Given the description of an element on the screen output the (x, y) to click on. 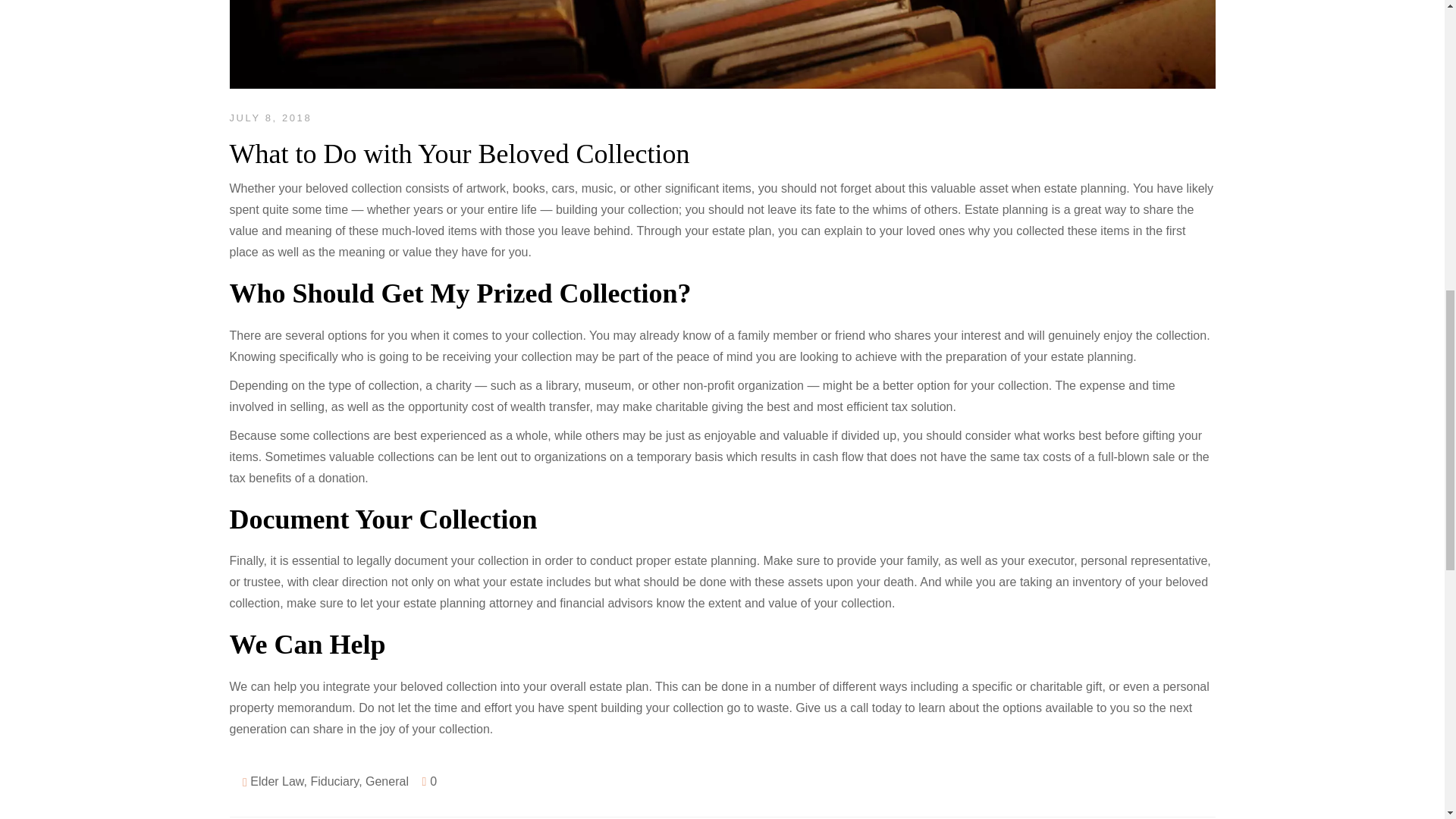
Like this (429, 780)
